Given the description of an element on the screen output the (x, y) to click on. 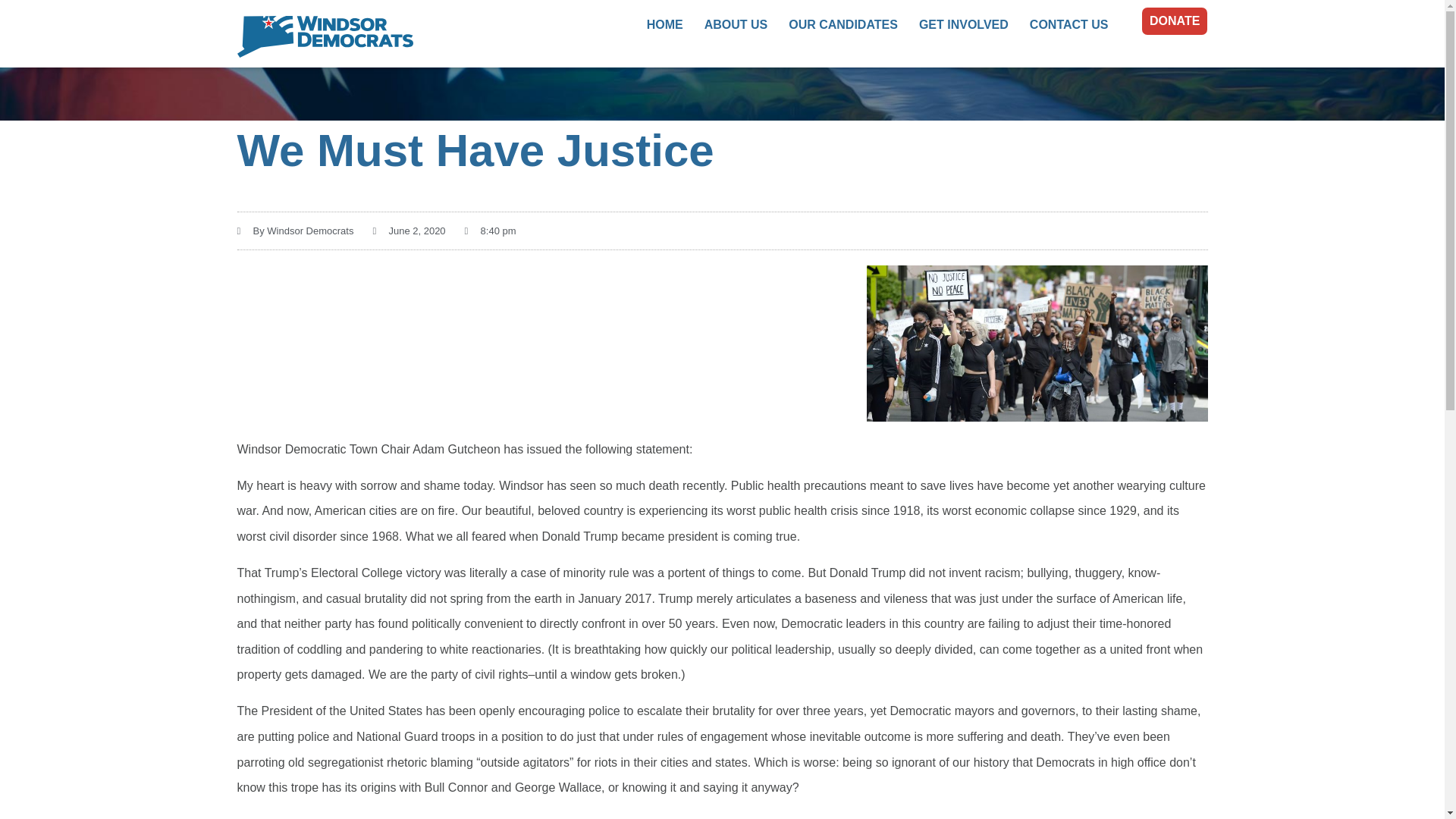
HOME (664, 24)
CONTACT US (1069, 24)
By Windsor Democrats (294, 231)
ABOUT US (736, 24)
GET INVOLVED (963, 24)
DONATE (1174, 21)
June 2, 2020 (408, 231)
OUR CANDIDATES (842, 24)
